Given the description of an element on the screen output the (x, y) to click on. 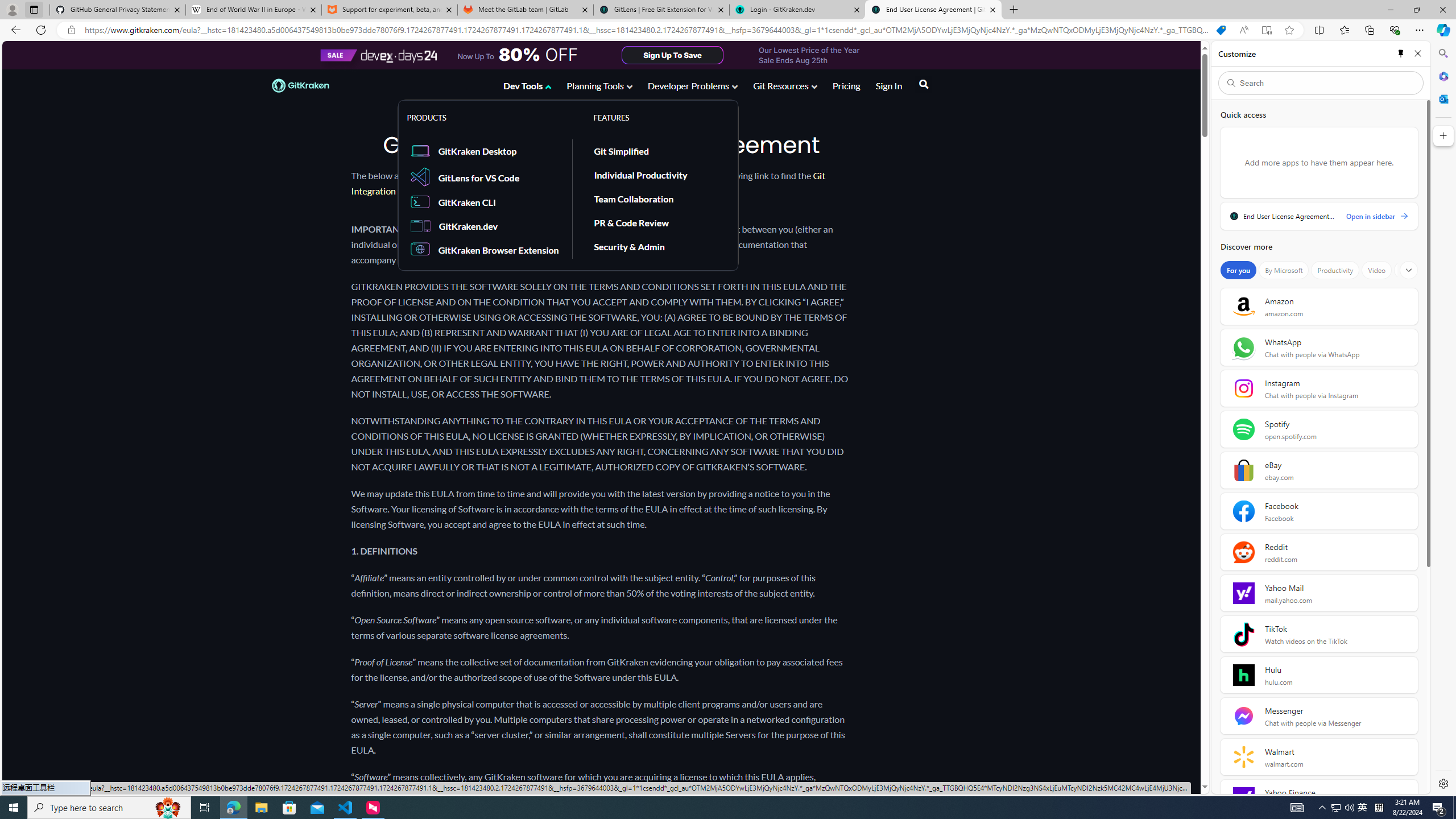
Video (1376, 270)
GitHub General Privacy Statement - GitHub Docs (117, 9)
Meet the GitLab team | GitLab (525, 9)
Team Collaboration (656, 198)
Show more (1408, 270)
Class: dropdown-menu open-menu (568, 185)
